Given the description of an element on the screen output the (x, y) to click on. 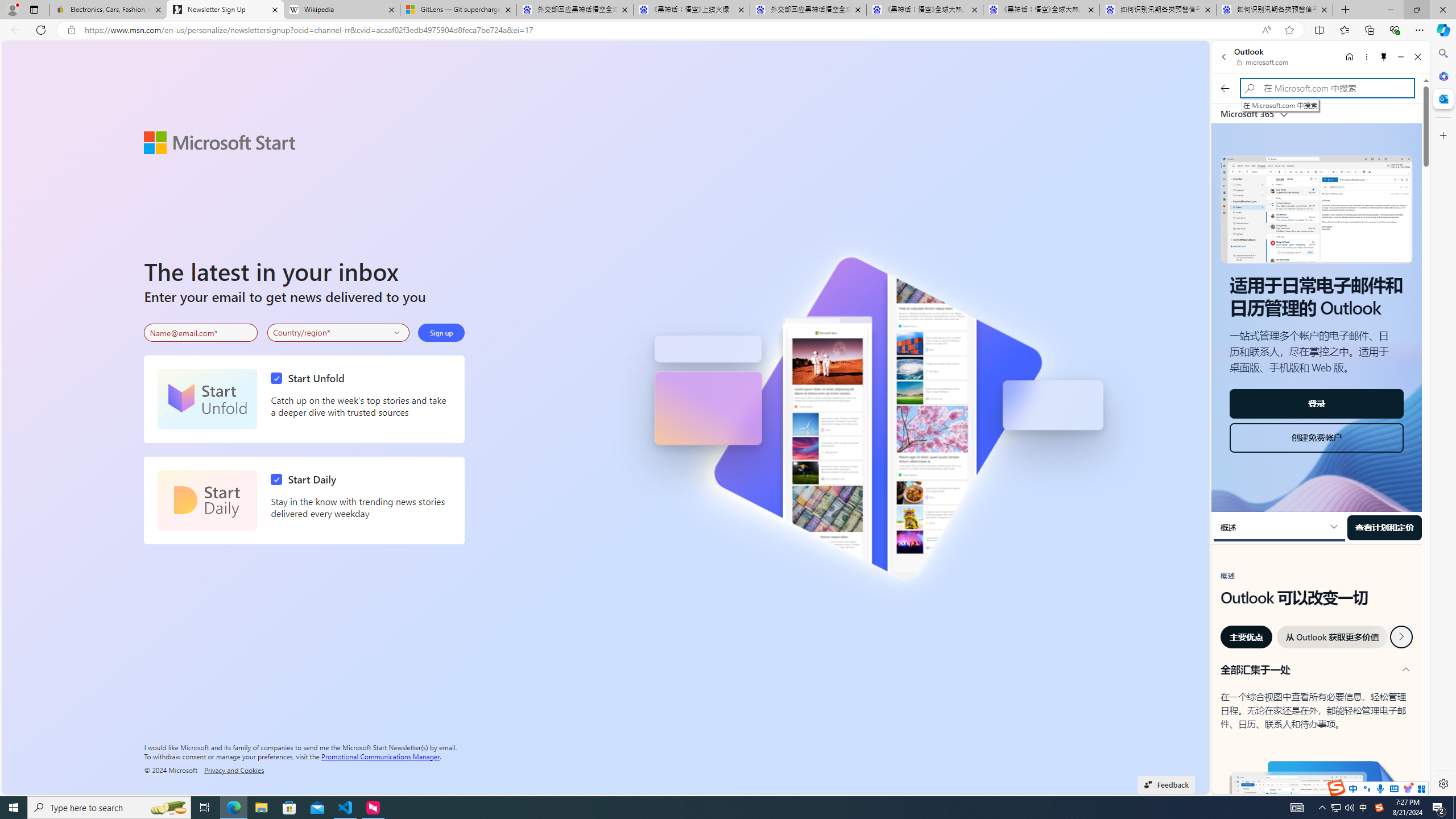
Restore (1416, 9)
Outlook (1442, 98)
Customize (1442, 135)
Enter your email (200, 332)
Feedback (1166, 784)
Read aloud this page (Ctrl+Shift+U) (1266, 29)
Home (1348, 56)
Promotional Communications Manager (380, 755)
Start Daily (207, 500)
Start Daily (306, 479)
Unpin side pane (1383, 56)
